Given the description of an element on the screen output the (x, y) to click on. 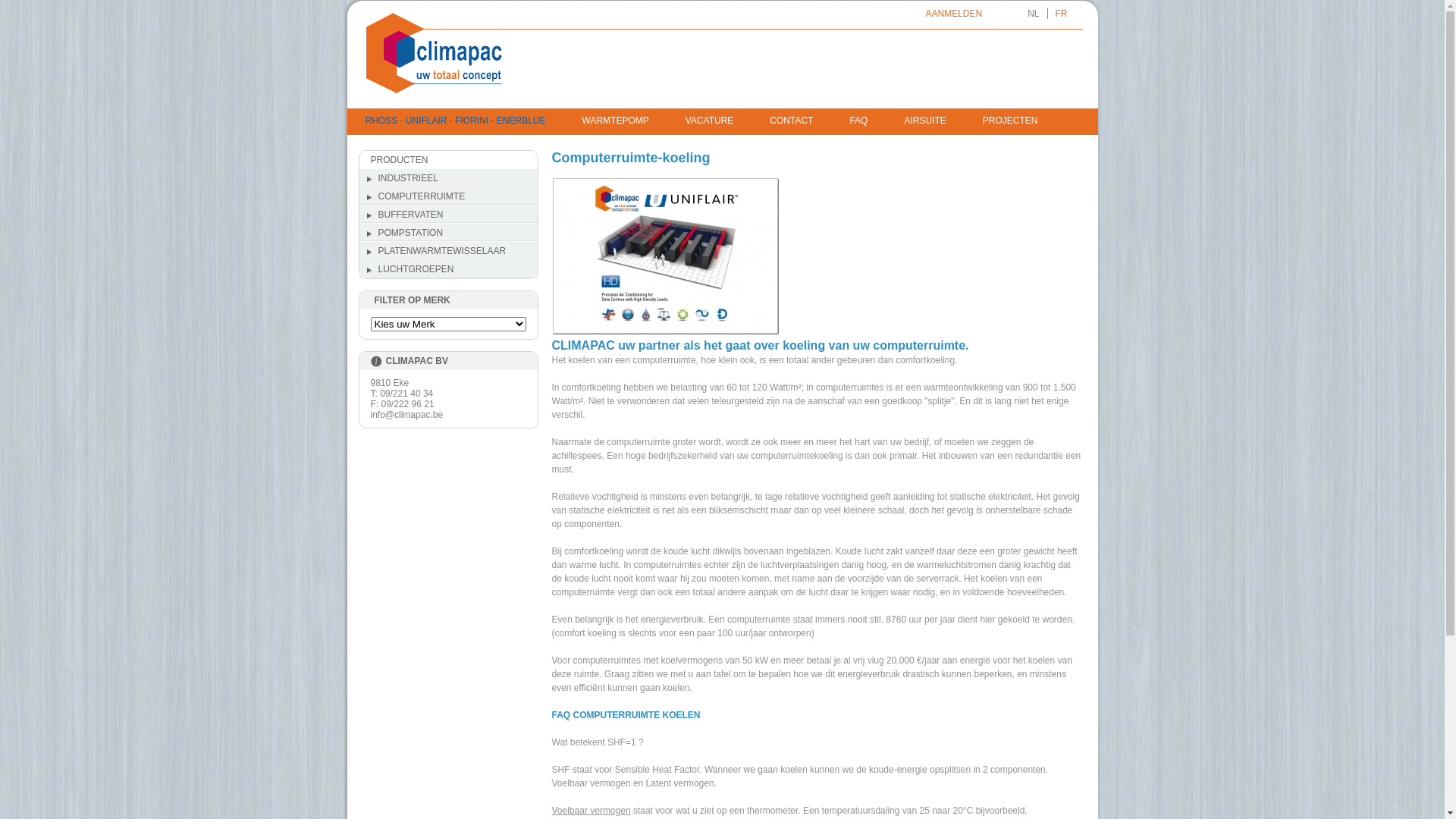
AIRSUITE Element type: text (924, 120)
POMPSTATION Element type: text (448, 232)
FR Element type: text (1061, 13)
LUCHTGROEPEN Element type: text (448, 269)
WARMTEPOMP Element type: text (615, 120)
VACATURE Element type: text (709, 120)
COMPUTERRUIMTE Element type: text (448, 196)
CONTACT Element type: text (790, 120)
PLATENWARMTEWISSELAAR Element type: text (448, 250)
climapac Element type: hover (433, 52)
AANMELDEN Element type: text (953, 13)
PROJECTEN Element type: text (1010, 120)
INDUSTRIEEL Element type: text (448, 178)
FAQ Element type: text (858, 120)
info@climapac.be Element type: text (406, 414)
BUFFERVATEN Element type: text (448, 214)
RHOSS - UNIFLAIR - FIORINI - ENERBLUE Element type: text (455, 120)
